Given the description of an element on the screen output the (x, y) to click on. 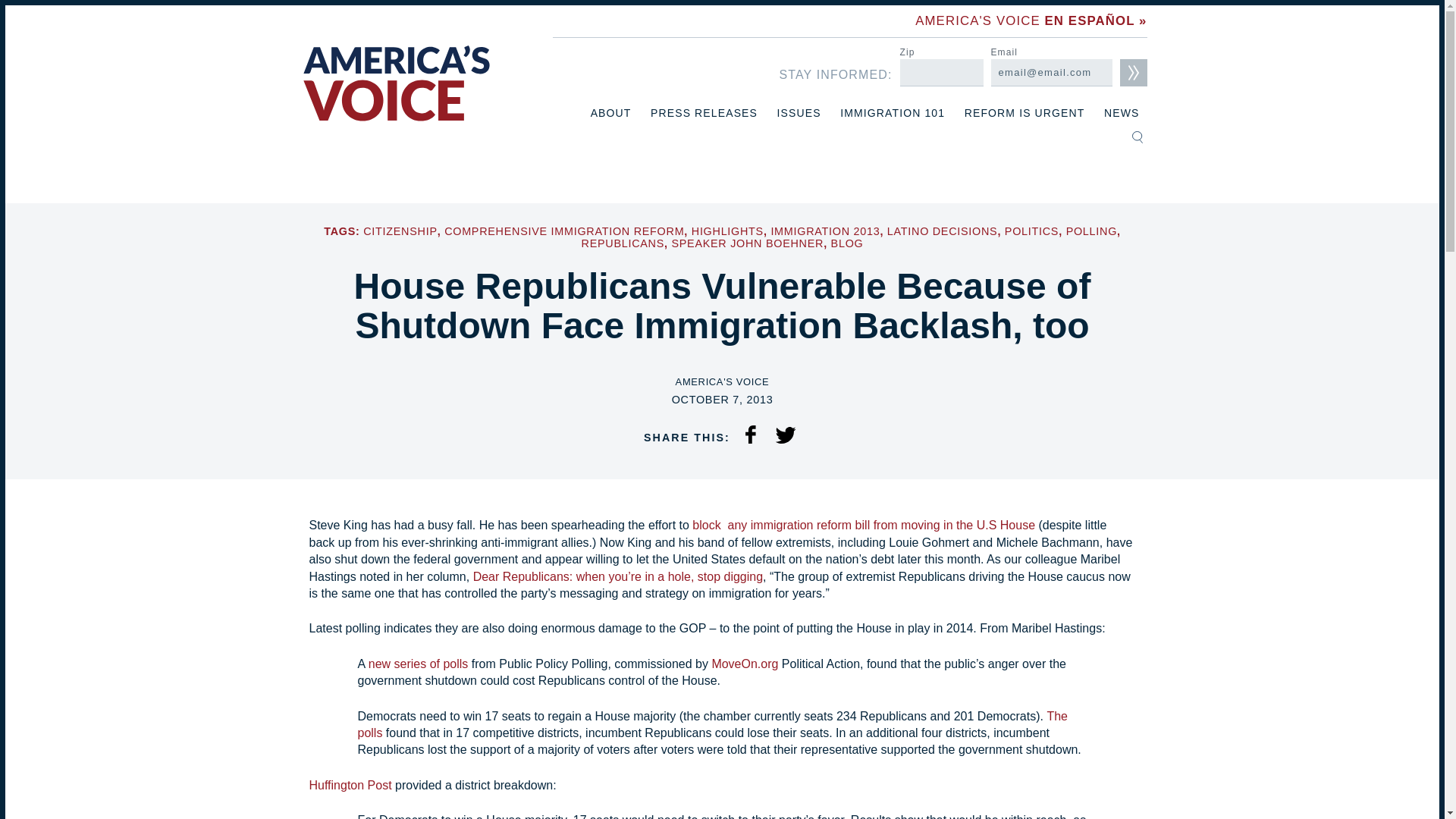
CITIZENSHIP (399, 231)
Huffington Post (349, 784)
NEWS (1120, 112)
MoveOn.org (744, 663)
Show Search (1137, 135)
REPUBLICANS (621, 243)
SPEAKER JOHN BOEHNER (747, 243)
Stay Informed (1133, 72)
IMMIGRATION 2013 (824, 231)
Stay Informed (1133, 72)
REFORM IS URGENT (1023, 112)
The polls (712, 724)
BLOG (847, 243)
ISSUES (799, 112)
PRESS RELEASES (703, 112)
